Given the description of an element on the screen output the (x, y) to click on. 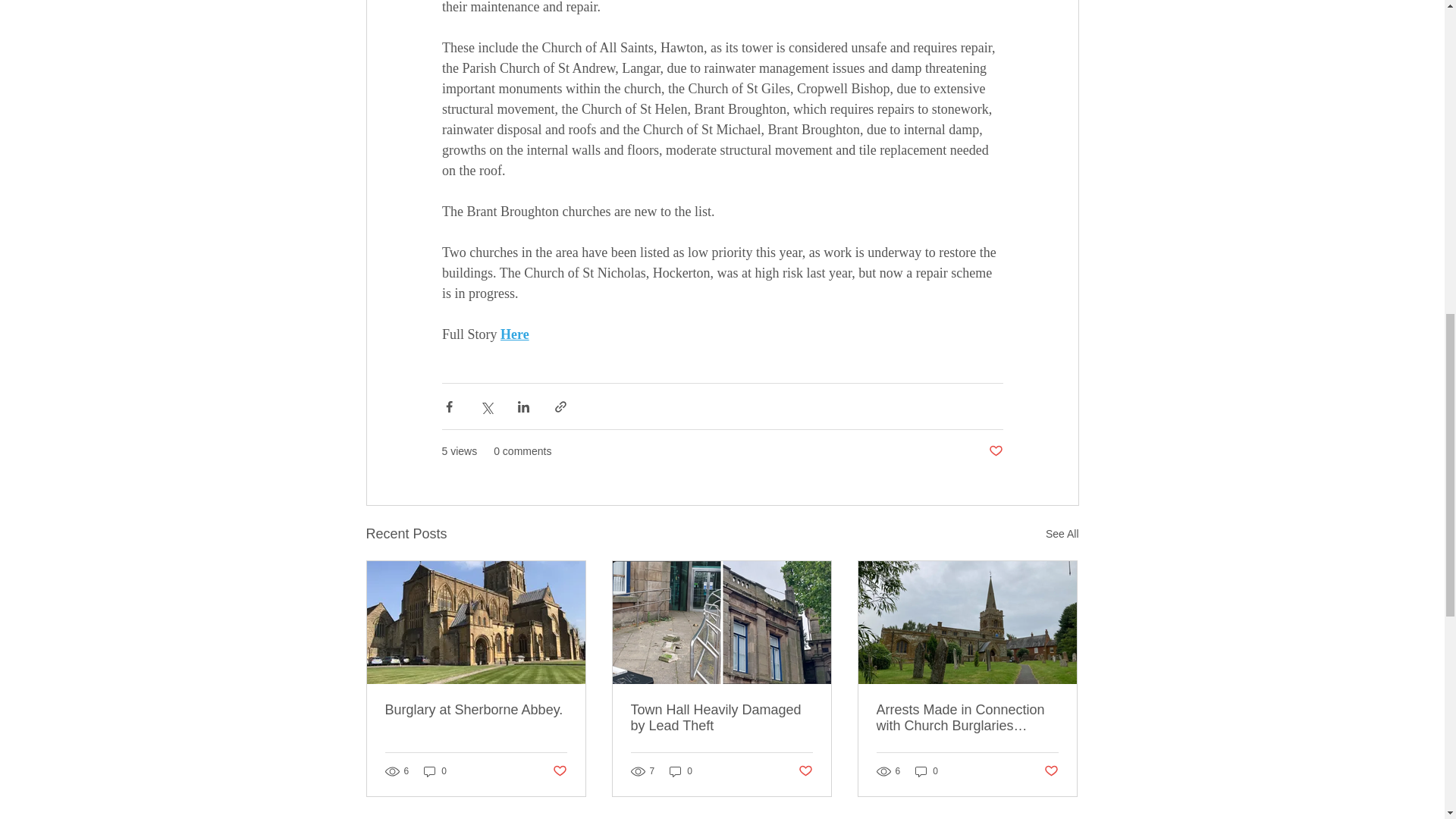
0 (926, 771)
Town Hall Heavily Damaged by Lead Theft (721, 717)
0 (435, 771)
Post not marked as liked (995, 451)
Post not marked as liked (1050, 771)
Burglary at Sherborne Abbey. (476, 709)
Post not marked as liked (558, 771)
Here (514, 334)
See All (1061, 534)
